Given the description of an element on the screen output the (x, y) to click on. 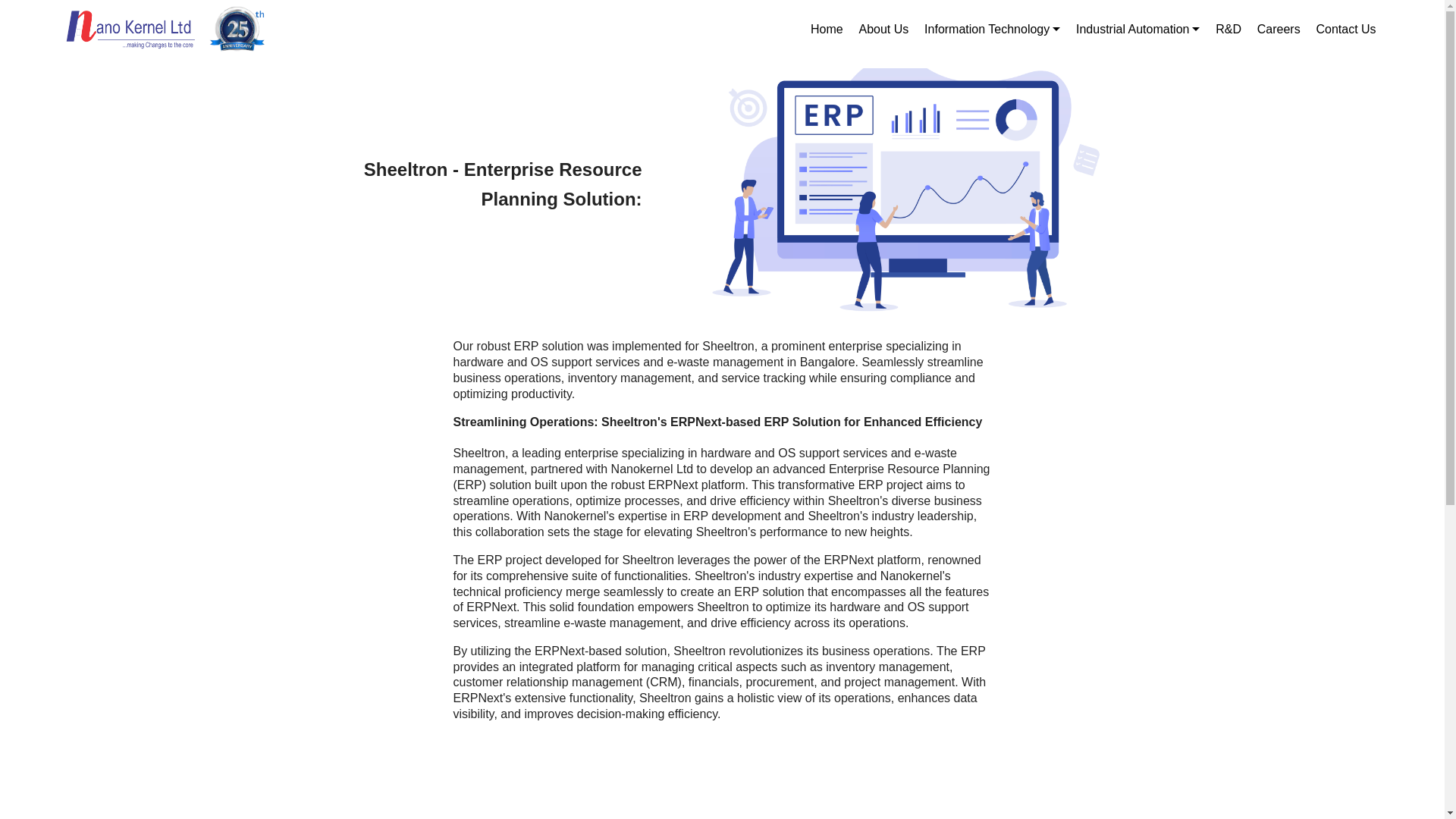
25th Year (237, 28)
NKL Logo (129, 28)
Home (826, 28)
About Us (883, 28)
Information Technology (991, 28)
Sheeltron - Enterprise Resource Planning Solution (911, 191)
Contact Us (1345, 28)
Industrial Automation (1137, 28)
Careers (1278, 28)
